Given the description of an element on the screen output the (x, y) to click on. 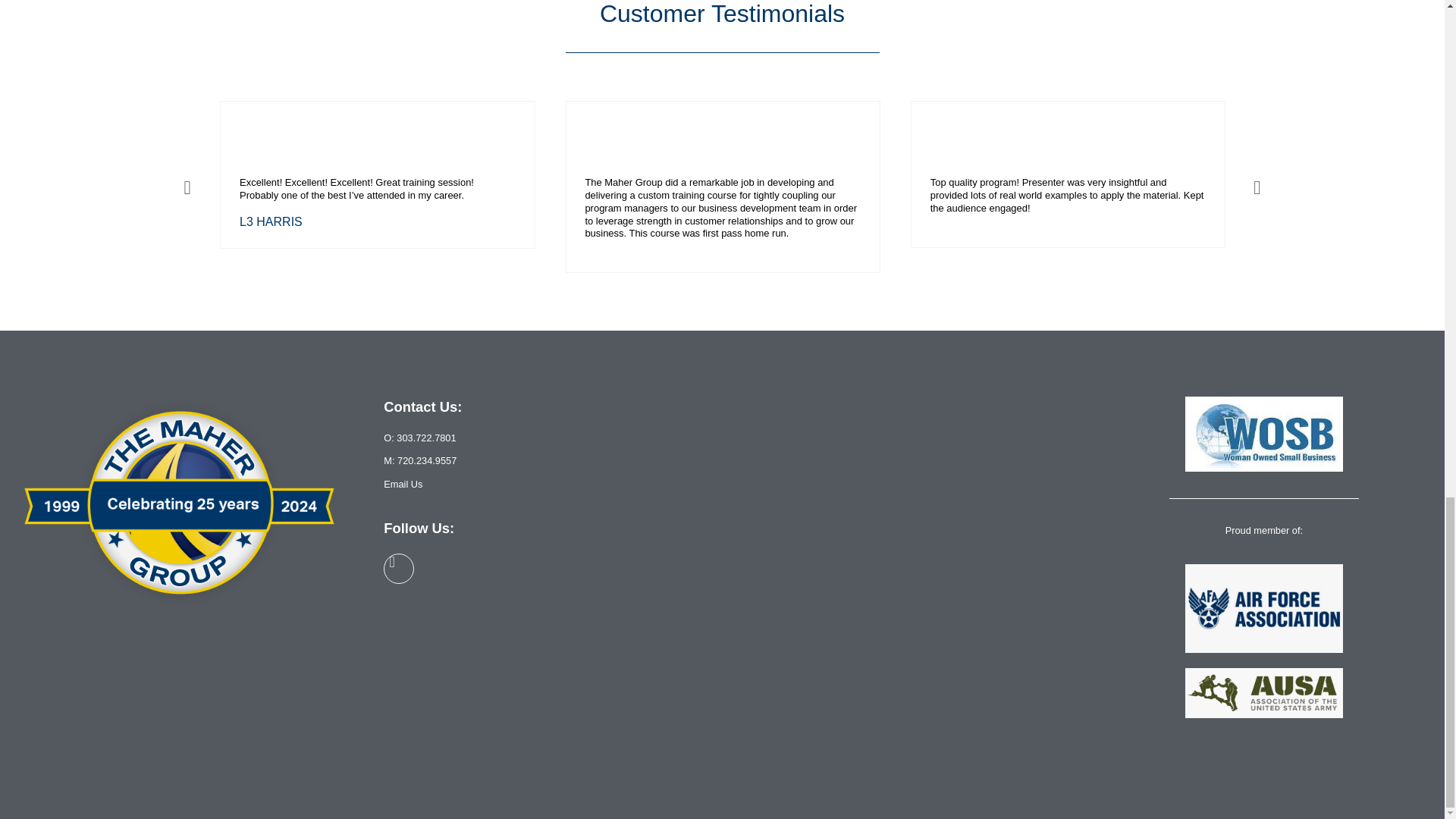
O: 303.722.7801 (419, 437)
M: 720.234.9557 (420, 460)
